Given the description of an element on the screen output the (x, y) to click on. 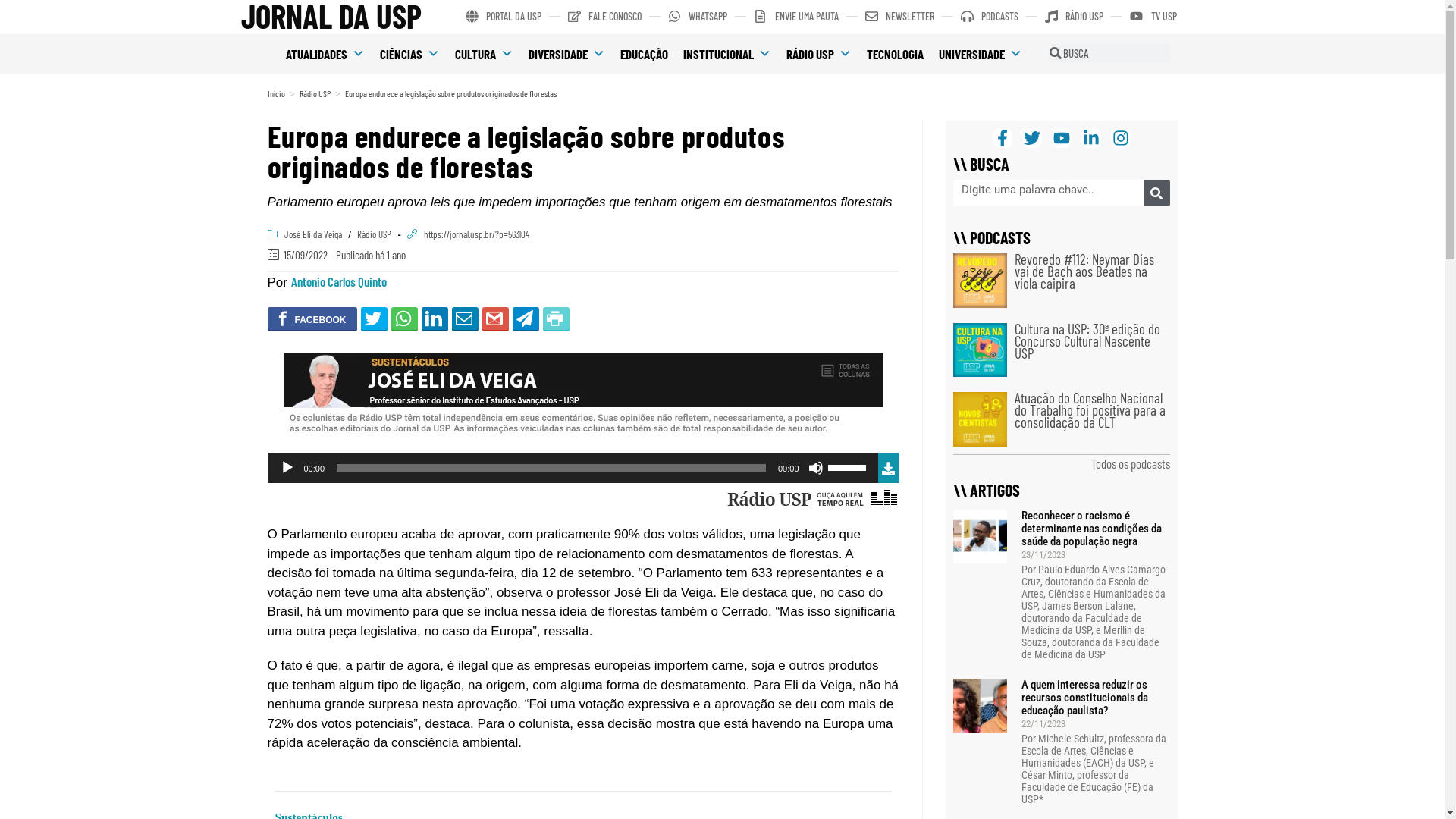
Todos os podcasts Element type: text (1129, 462)
Compartilhar no Linkedin Element type: hover (434, 318)
https://jornal.usp.br/?p=563104 Element type: text (476, 233)
CULTURA Element type: text (483, 53)
Compartilhar no Facebook Element type: hover (311, 318)
TECNOLOGIA Element type: text (895, 53)
PORTAL DA USP Element type: text (503, 15)
Compartilhar via WhatsApp Element type: hover (404, 318)
FALE CONOSCO Element type: text (604, 15)
TV USP Element type: text (1152, 15)
Enviar por email Element type: hover (464, 318)
UNIVERSIDADE Element type: text (980, 53)
NEWSLETTER Element type: text (898, 15)
Mudo Element type: hover (815, 467)
ENVIE UMA PAUTA Element type: text (795, 15)
Imprimir via PrintFriendly Element type: hover (555, 318)
INSTITUCIONAL Element type: text (726, 53)
PODCASTS Element type: text (989, 15)
Tweetar Element type: hover (373, 318)
Antonio Carlos Quinto Element type: text (338, 280)
WHATSAPP Element type: text (697, 15)
Reproduzir Element type: hover (286, 467)
Enviar via Gmail Element type: hover (495, 318)
ATUALIDADES Element type: text (325, 53)
DIVERSIDADE Element type: text (566, 53)
Compartilhar no Telegram Element type: hover (525, 318)
